Given the description of an element on the screen output the (x, y) to click on. 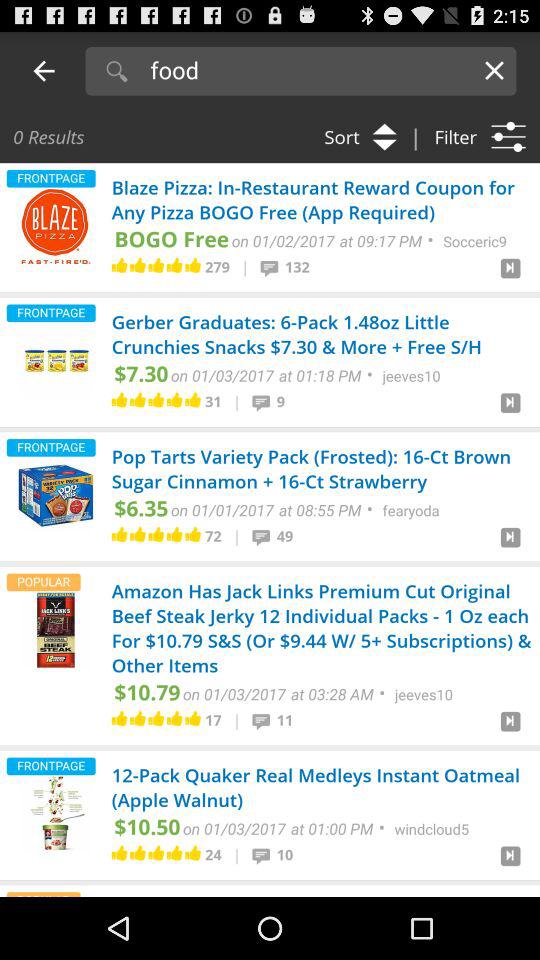
click on the left to the filter (354, 136)
click on blaze pizza icon (56, 226)
select the second image in the list (56, 360)
select the option close on the right corner of the screen (494, 70)
click on the previous arrow button to the left of search option (43, 70)
go to right of 132 (510, 271)
